Given the description of an element on the screen output the (x, y) to click on. 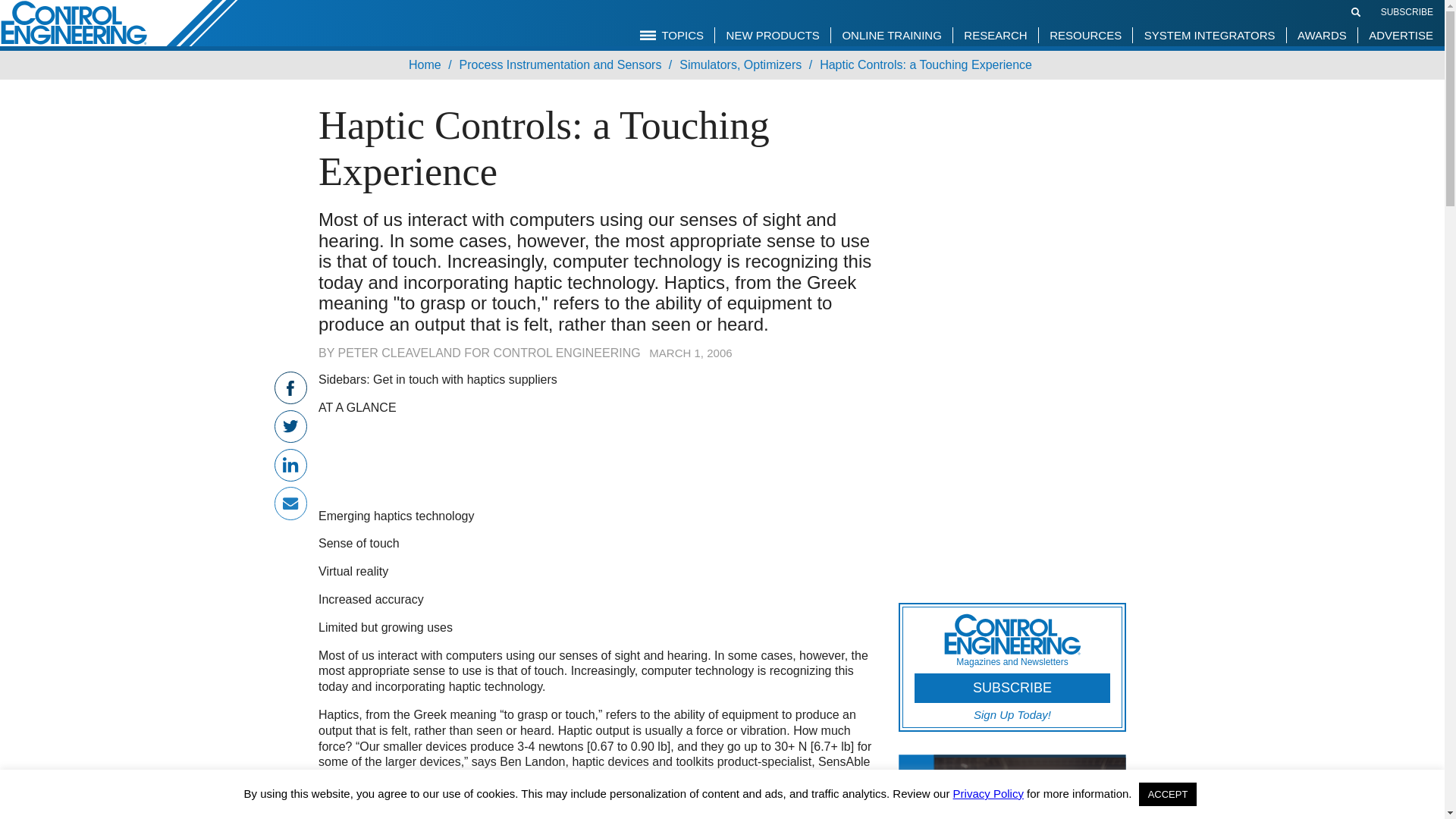
SUBSCRIBE (1406, 11)
RESEARCH (995, 34)
SYSTEM INTEGRATORS (1209, 34)
RESOURCES (1085, 34)
NEW PRODUCTS (772, 34)
TOPICS (671, 34)
ONLINE TRAINING (890, 34)
Search (1356, 11)
